Given the description of an element on the screen output the (x, y) to click on. 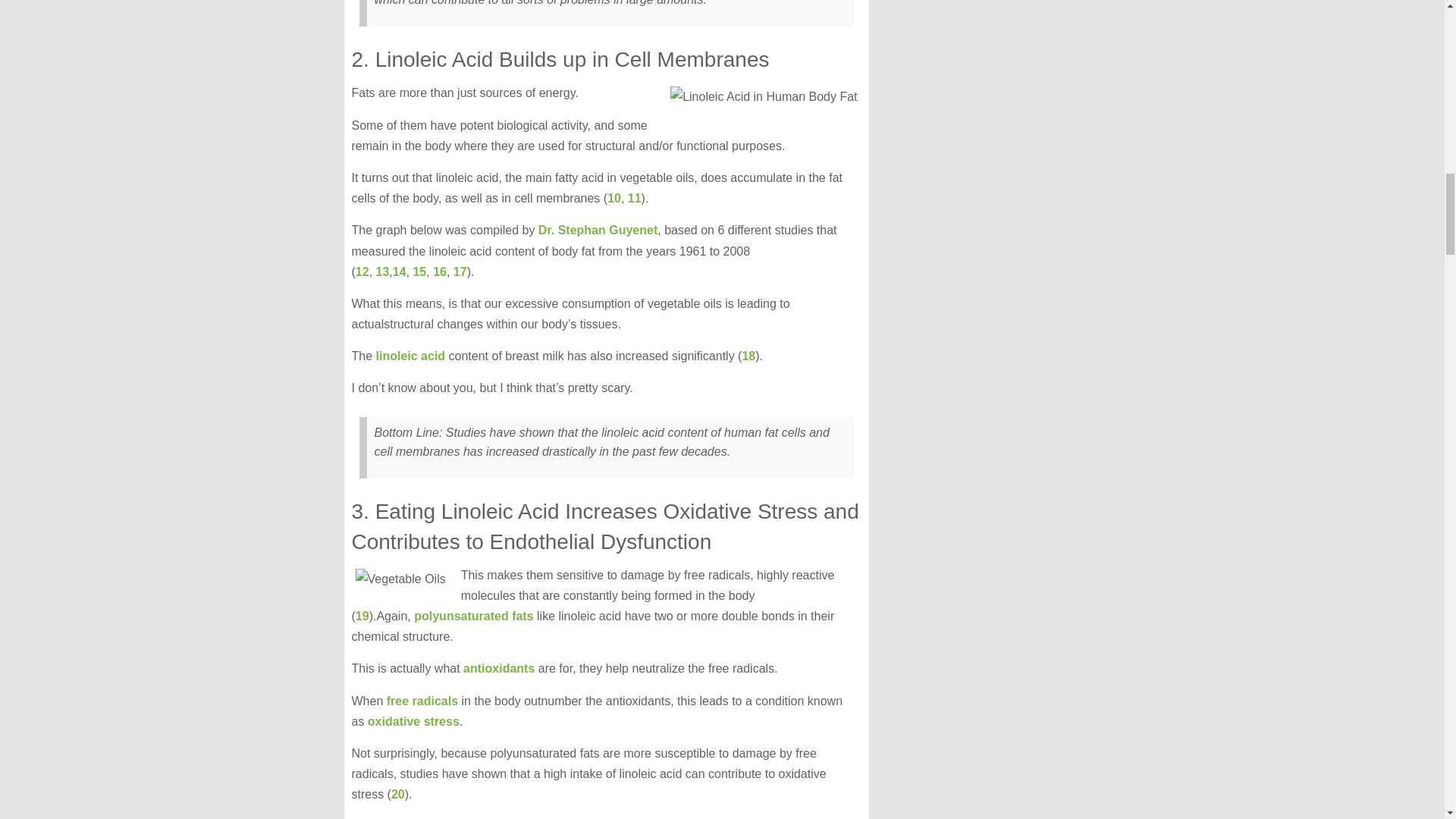
16 (439, 271)
Dr. Stephan Guyenet (598, 229)
18 (748, 355)
10 (614, 197)
11 (634, 197)
15 (419, 271)
linoleic acid (410, 355)
12 (362, 271)
13 (382, 271)
14 (399, 271)
19 (362, 615)
polyunsaturated fats (472, 615)
17 (459, 271)
